Given the description of an element on the screen output the (x, y) to click on. 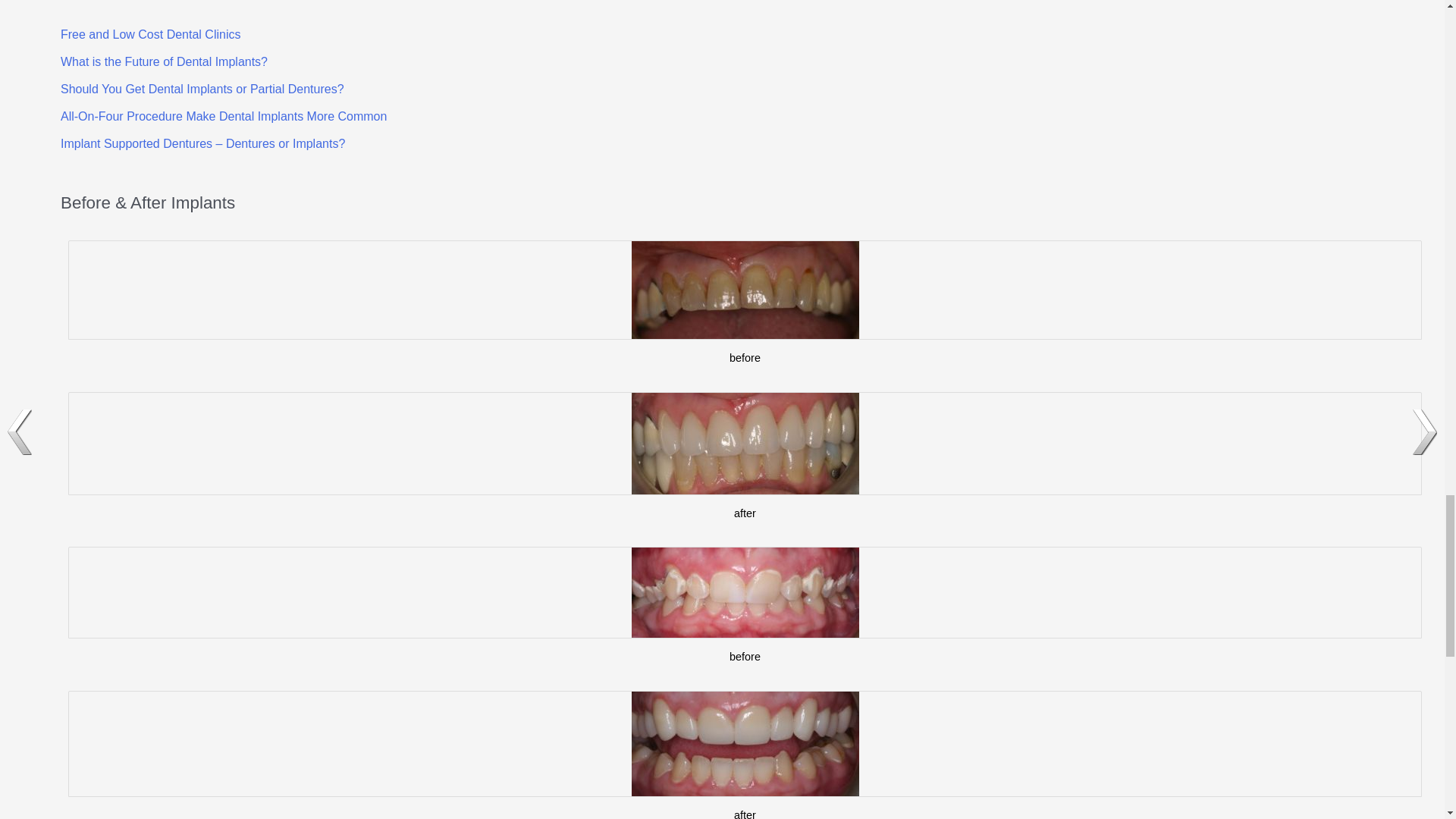
All-On-Four Procedure Make Dental Implants More Common (224, 115)
What is the Future of Dental Implants? (164, 61)
Should You Get Dental Implants or Partial Dentures? (202, 88)
Free and Low Cost Dental Clinics (150, 33)
